Given the description of an element on the screen output the (x, y) to click on. 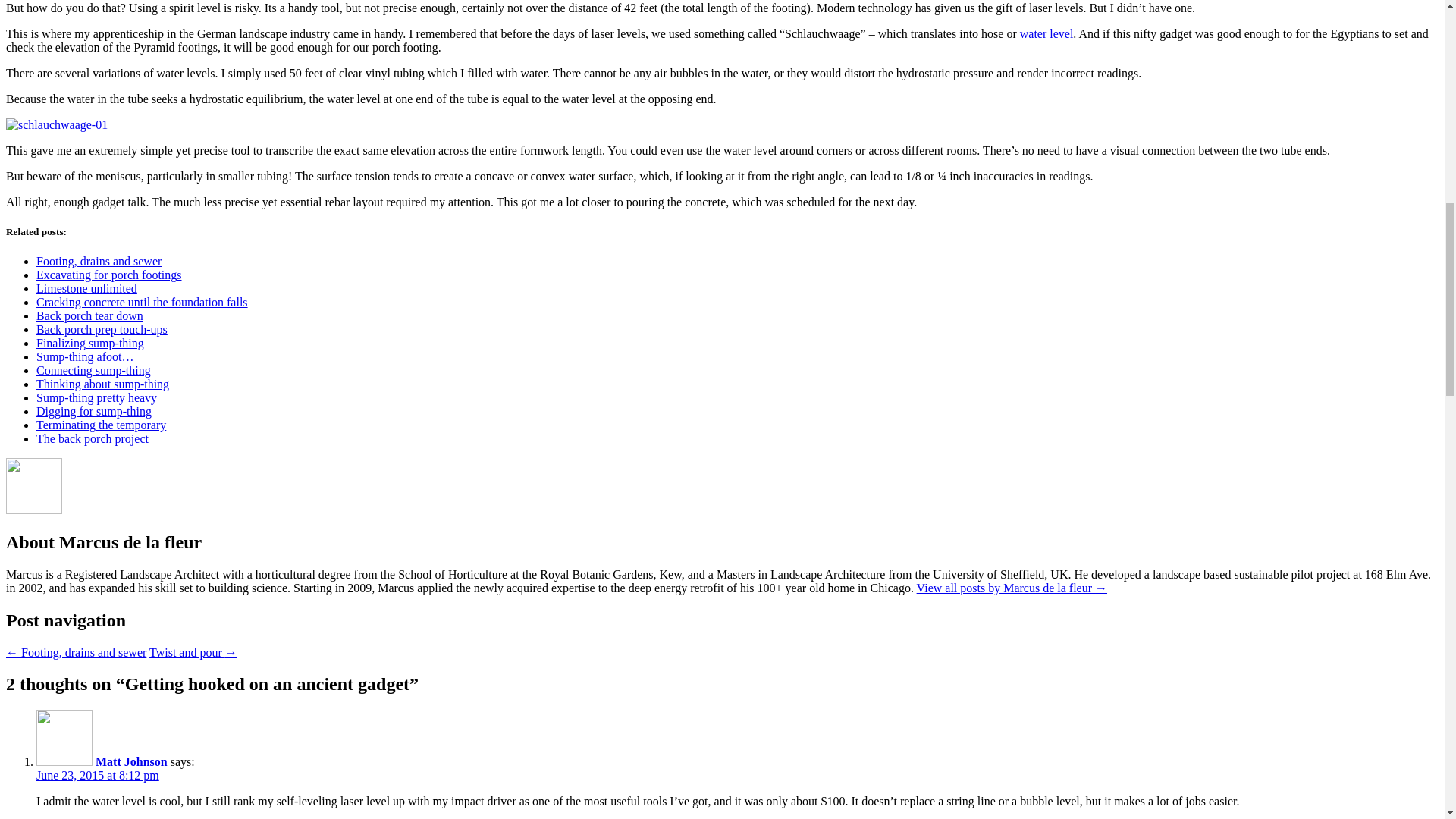
June 23, 2015 at 8:12 pm (97, 775)
Matt Johnson (131, 761)
Terminating the temporary (100, 424)
Cracking concrete until the foundation falls (141, 301)
Back porch prep touch-ups (101, 328)
Sump-thing pretty heavy (96, 397)
Limestone unlimited (86, 287)
Excavating for porch footings (109, 274)
Thinking about sump-thing (102, 383)
Back porch tear down (89, 315)
Connecting sump-thing (93, 369)
water level (1047, 33)
Footing, drains and sewer (98, 260)
Finalizing sump-thing (90, 342)
Digging for sump-thing (93, 410)
